Given the description of an element on the screen output the (x, y) to click on. 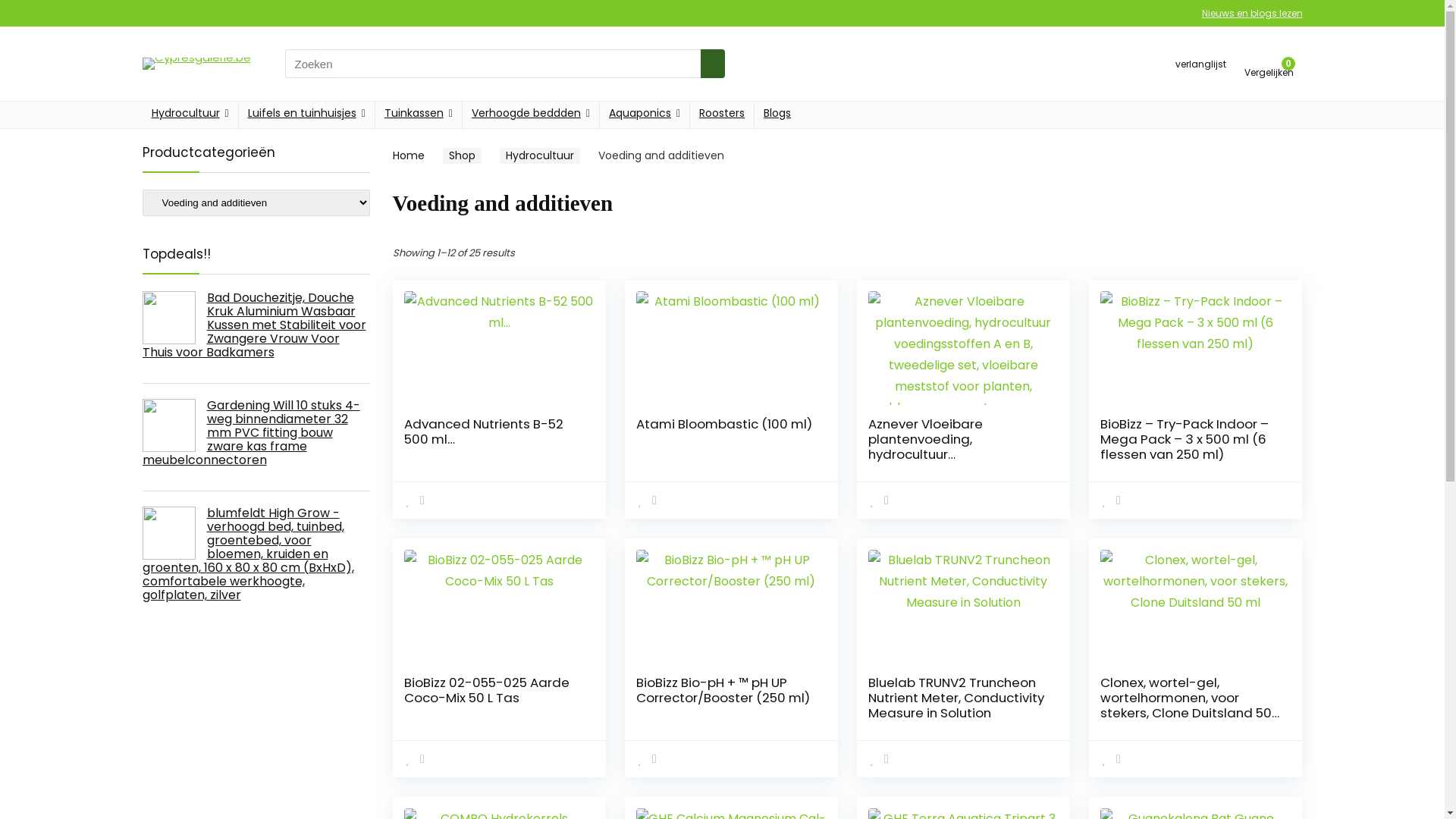
Luifels en tuinhuisjes Element type: text (306, 114)
Hydrocultuur Element type: text (190, 114)
Shop Element type: text (461, 155)
Hydrocultuur Element type: text (538, 155)
Blogs Element type: text (777, 114)
Roosters Element type: text (721, 114)
Tuinkassen Element type: text (418, 114)
Home Element type: text (408, 155)
BioBizz 02-055-025 Aarde Coco-Mix 50 L Tas Element type: text (486, 689)
Atami Bloombastic (100 ml) Element type: text (724, 423)
Nieuws en blogs lezen Element type: text (1251, 12)
Aquaponics Element type: text (644, 114)
Verhoogde beddden Element type: text (530, 114)
